Given the description of an element on the screen output the (x, y) to click on. 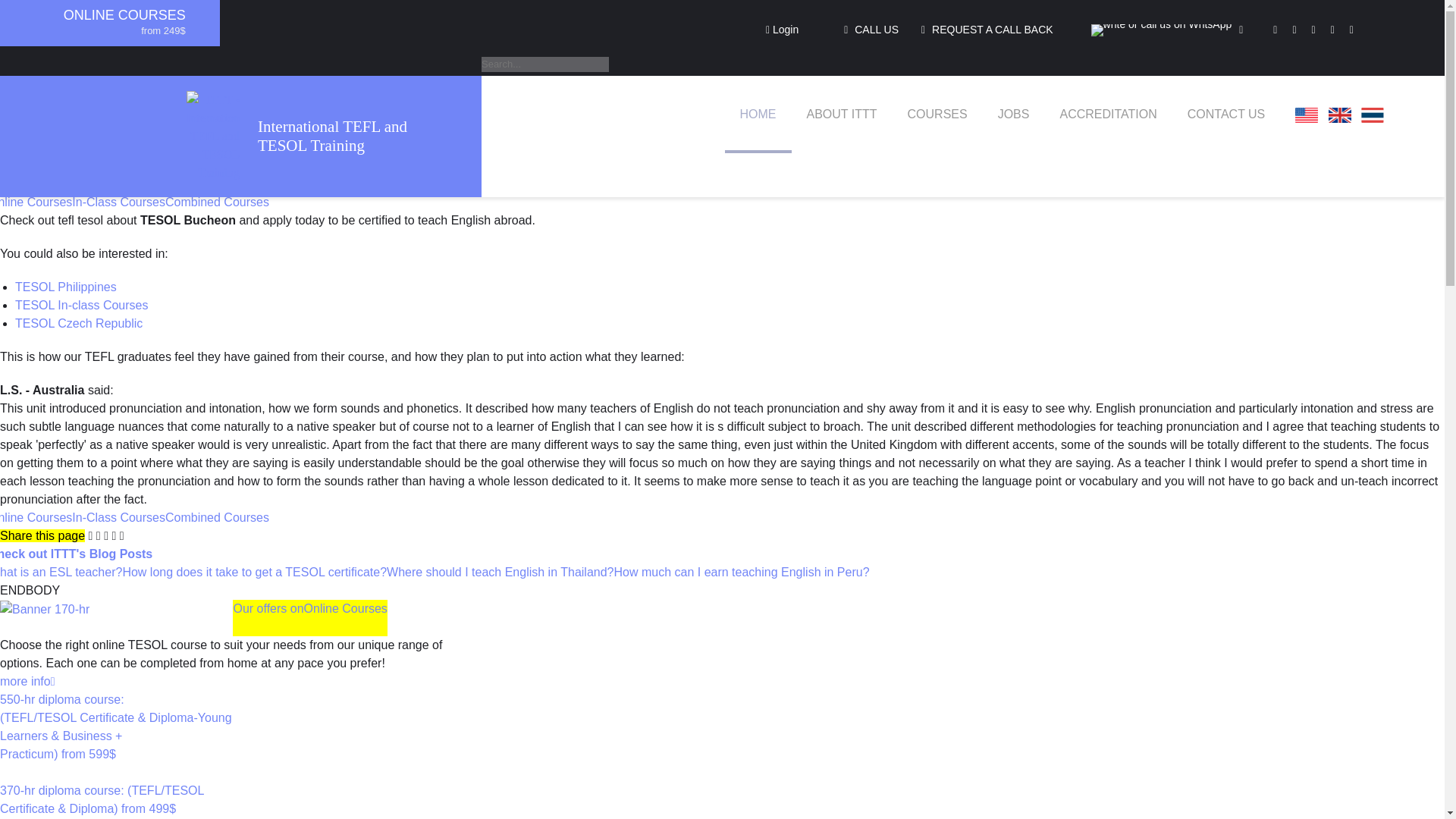
Thailand Office (1372, 114)
COURSES (937, 114)
TESOL Philippines (65, 286)
International TEFL and TESOL Training (351, 136)
ONLINE COURSES (125, 14)
USA Office (1306, 114)
TESOL Czech Republic (78, 323)
JOBS (1013, 114)
HOME (758, 114)
